Given the description of an element on the screen output the (x, y) to click on. 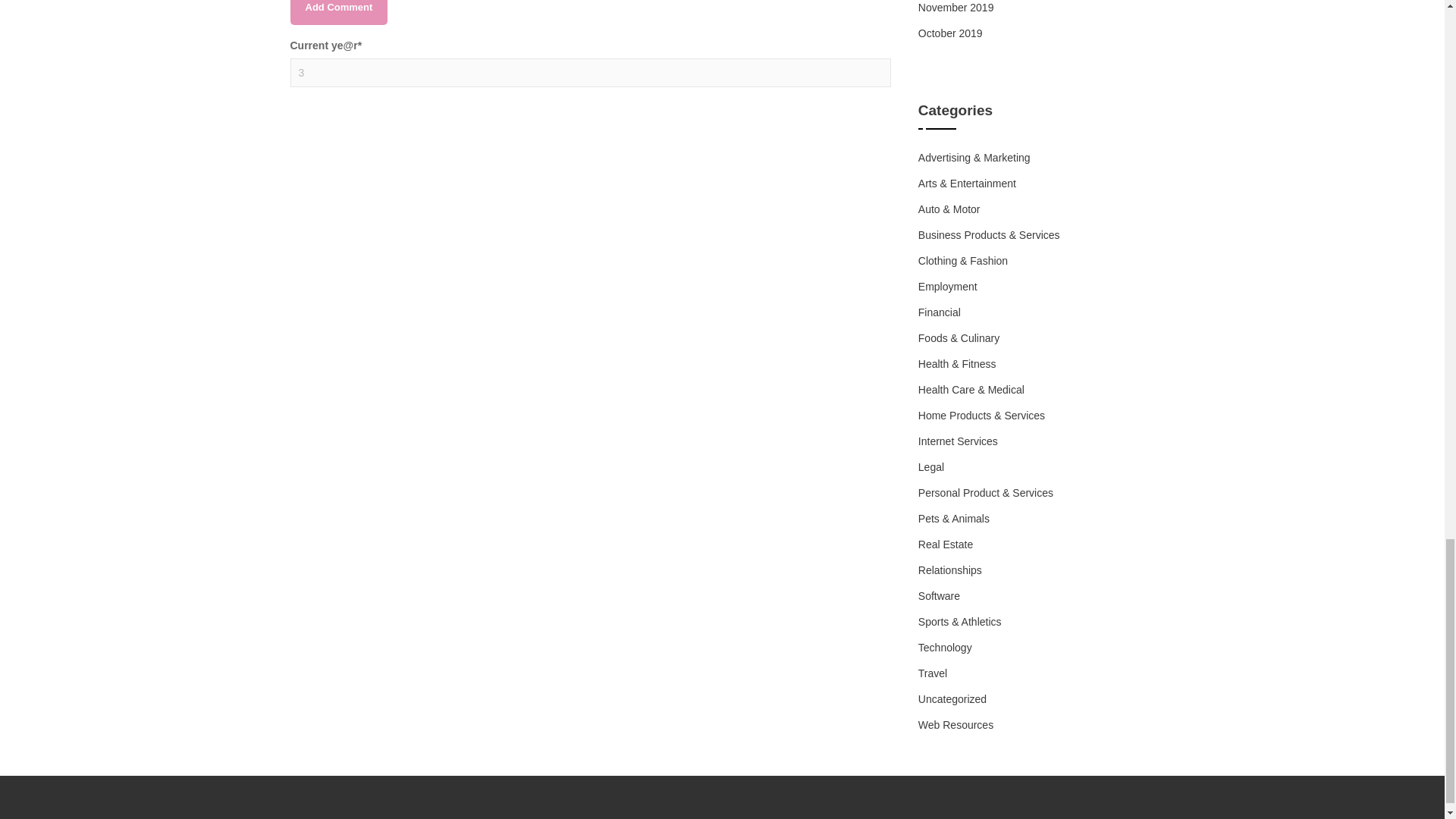
3 (589, 72)
Add Comment (338, 12)
Add Comment (338, 12)
